Given the description of an element on the screen output the (x, y) to click on. 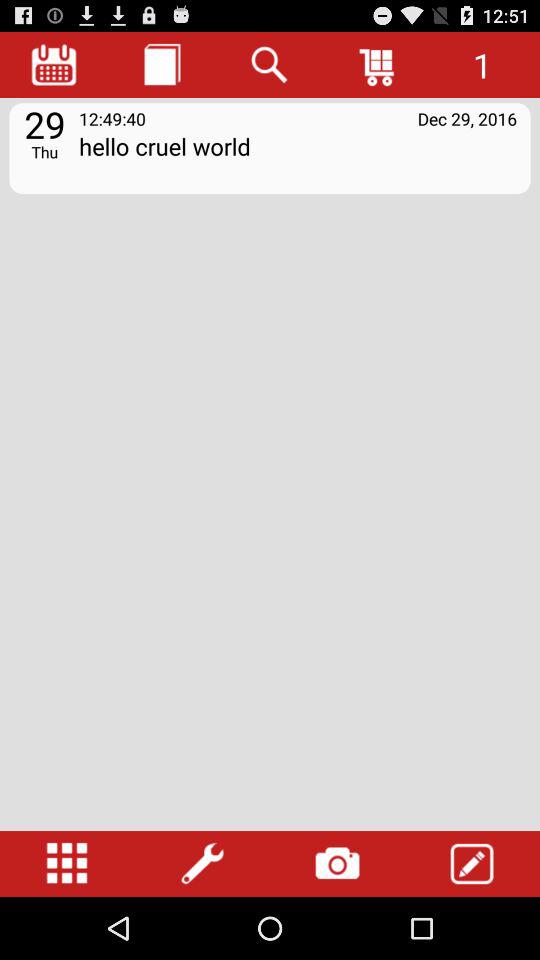
open settings (202, 863)
